Given the description of an element on the screen output the (x, y) to click on. 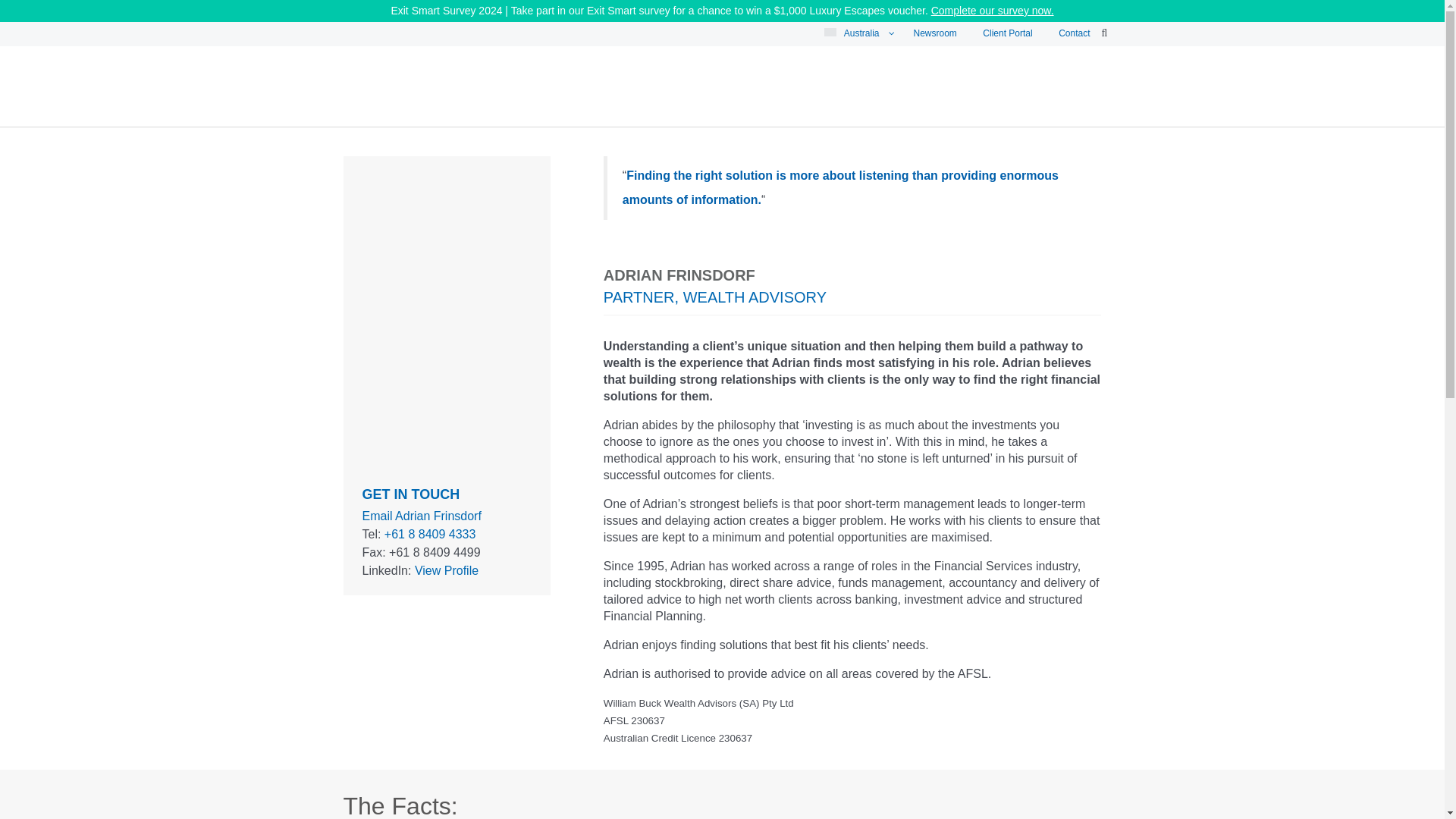
Newsroom (935, 32)
Contact (1073, 32)
Client Portal (1007, 32)
Complete our survey now. (992, 10)
WILLIAM BUCK AUSTRALIA (537, 133)
